Given the description of an element on the screen output the (x, y) to click on. 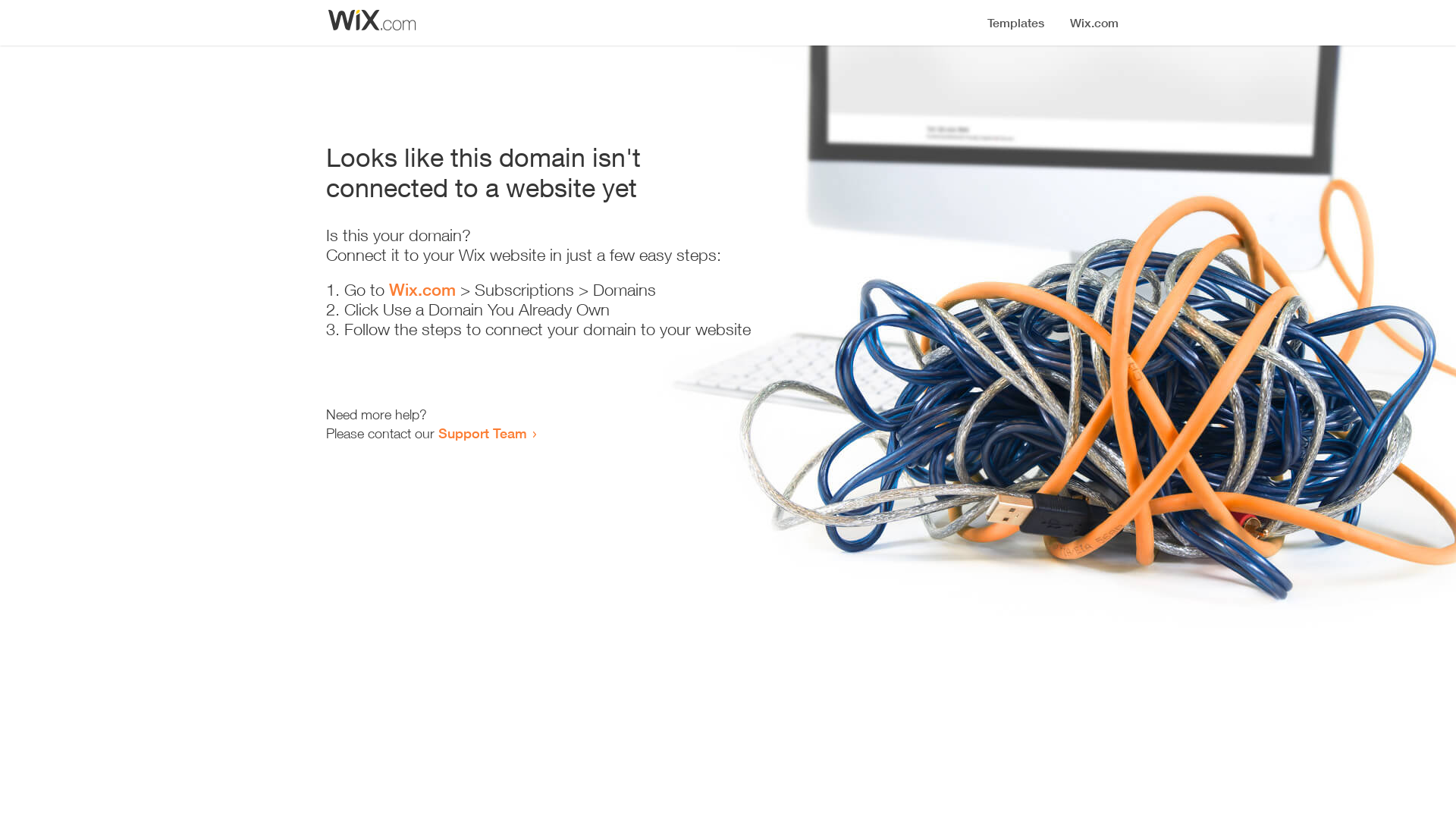
Wix.com Element type: text (422, 289)
Support Team Element type: text (482, 432)
